Given the description of an element on the screen output the (x, y) to click on. 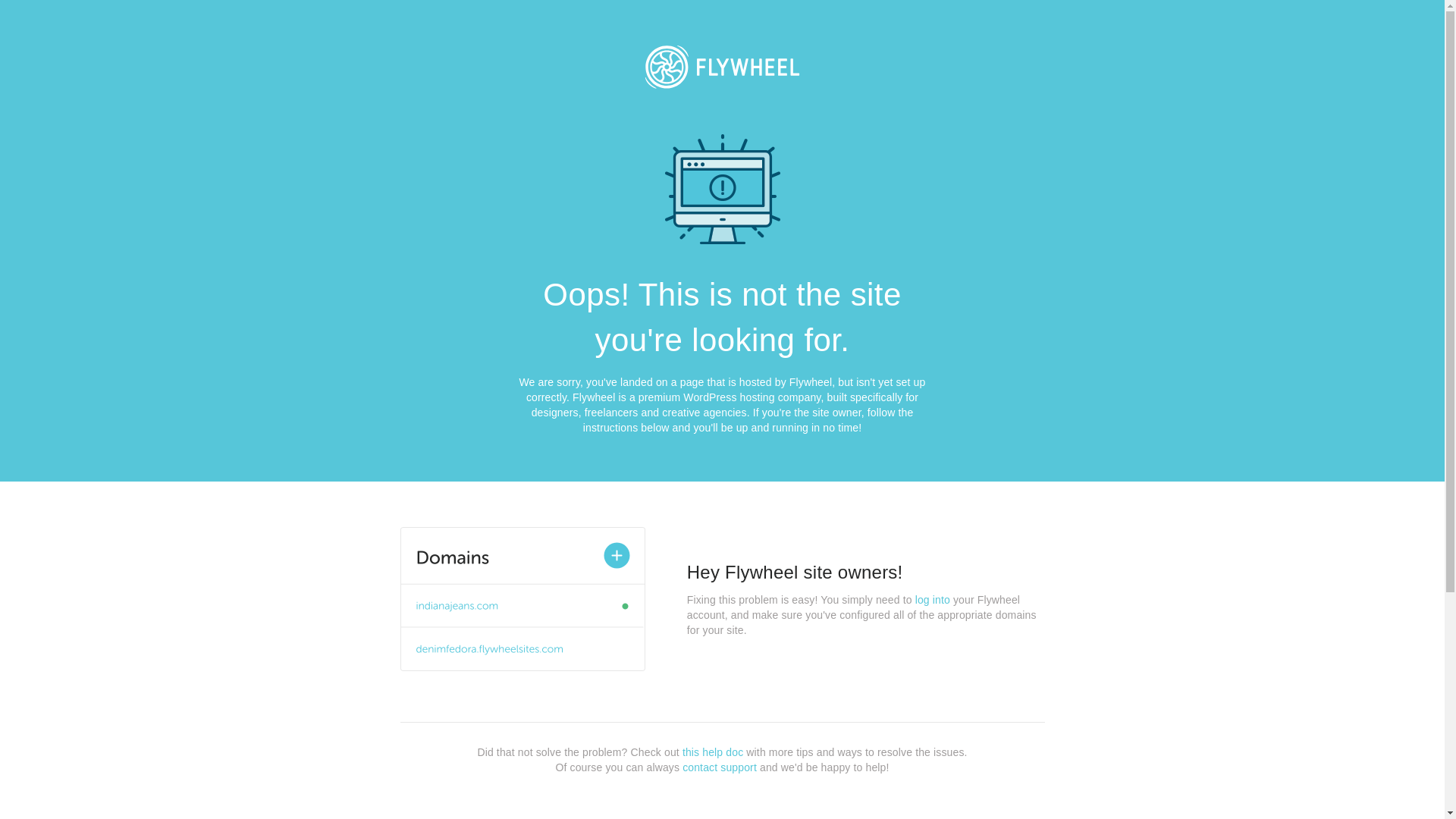
log into (932, 599)
this help doc (712, 752)
contact support (719, 767)
